Given the description of an element on the screen output the (x, y) to click on. 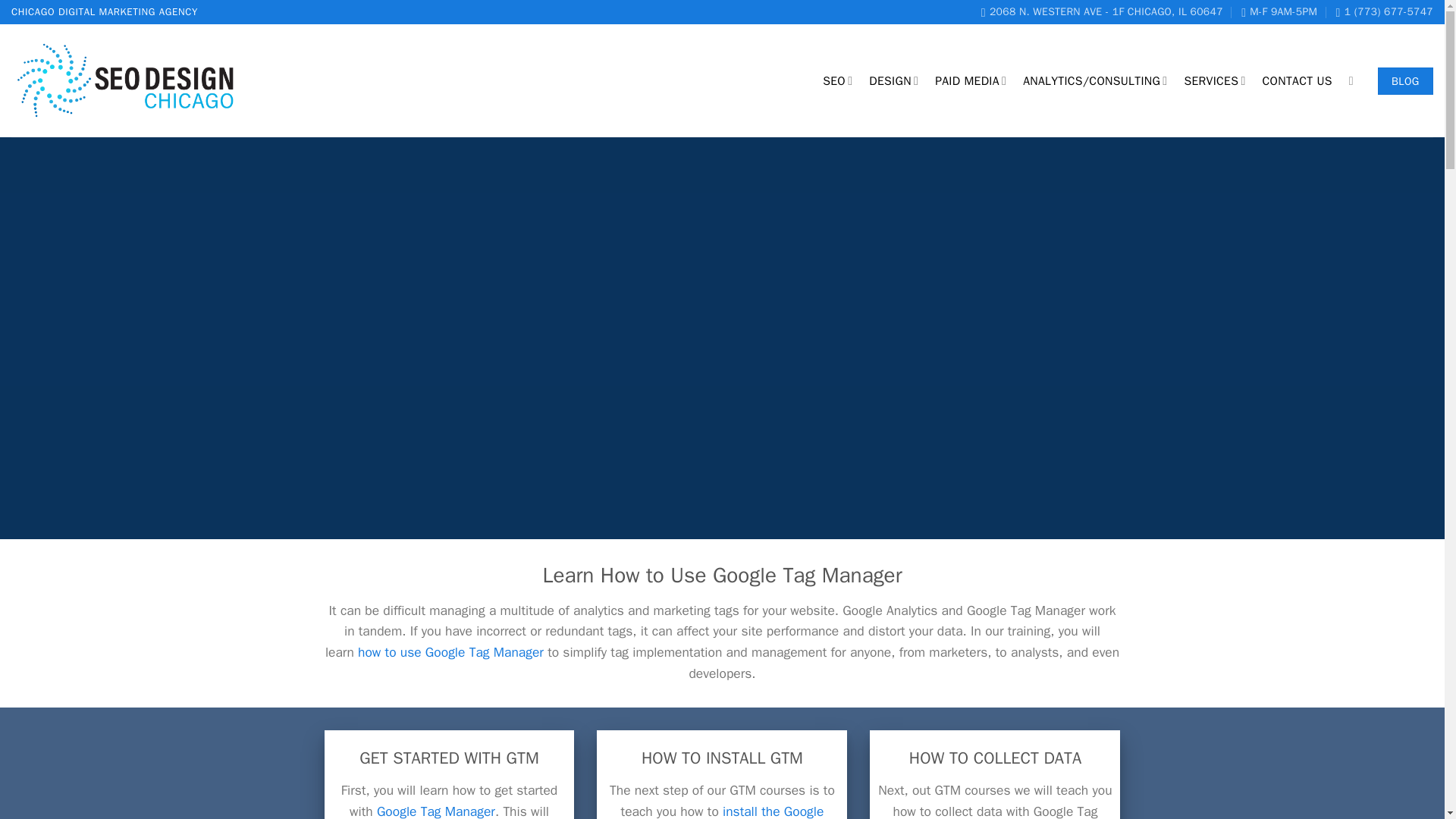
PAID MEDIA (970, 80)
SEO (836, 80)
2068 N. WESTERN AVE - 1F CHICAGO, IL 60647 (1102, 12)
SEO Design Chicago (1102, 12)
SEO Design Chicago - SEO Design Chicago (127, 81)
DESIGN (893, 80)
M-F 9AM-5PM (1279, 12)
